Given the description of an element on the screen output the (x, y) to click on. 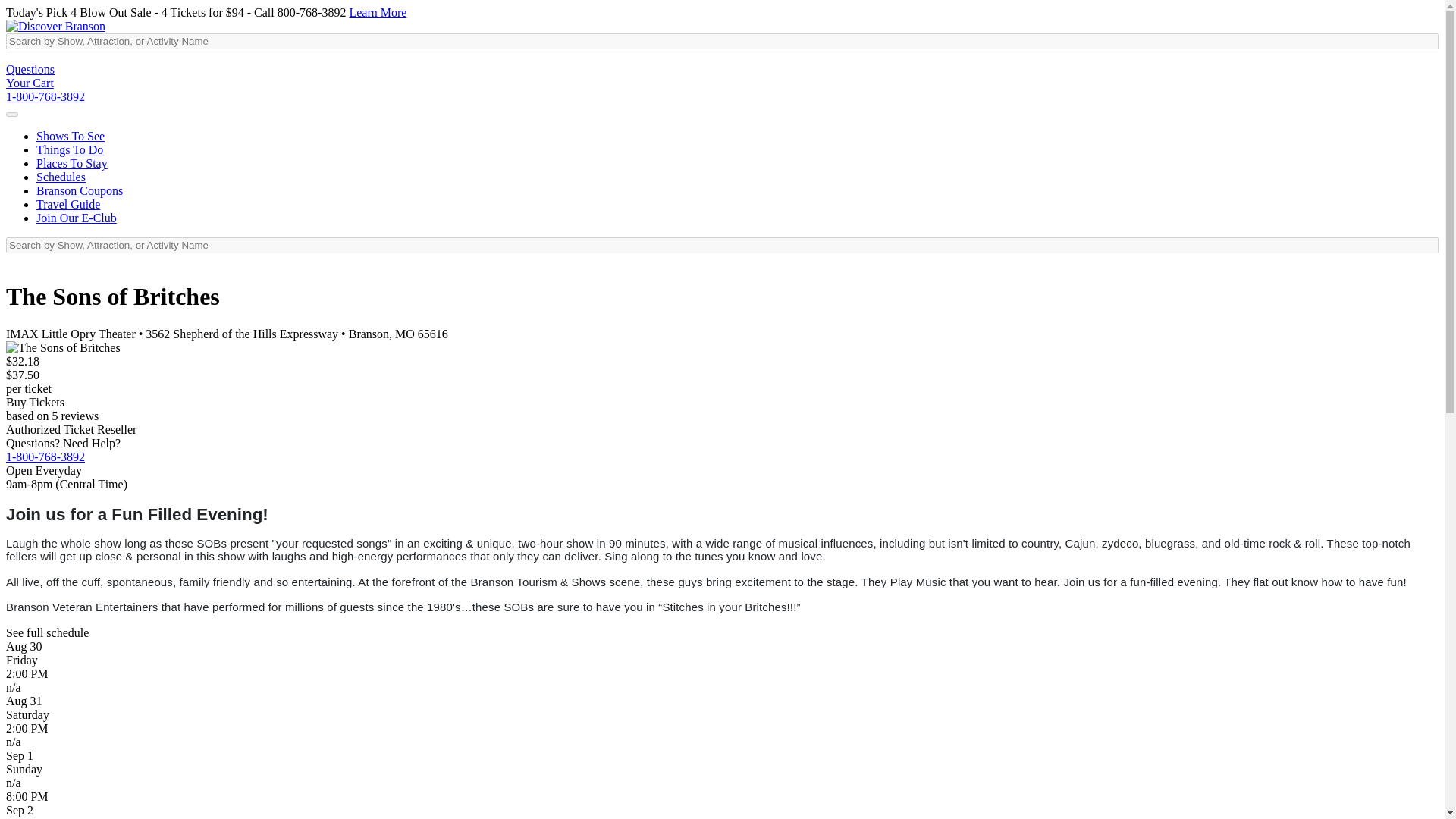
Schedules (60, 176)
Places To Stay (71, 163)
Join Our E-Club (76, 217)
Learn More (377, 11)
Places To Stay in Branson, Missouri (71, 163)
1-800-768-3892 (44, 456)
Branson Travel Guide (68, 204)
Join Our E-Club (76, 217)
Get Branson, Missouri Coupons (79, 190)
1-800-768-3892 (44, 96)
